Given the description of an element on the screen output the (x, y) to click on. 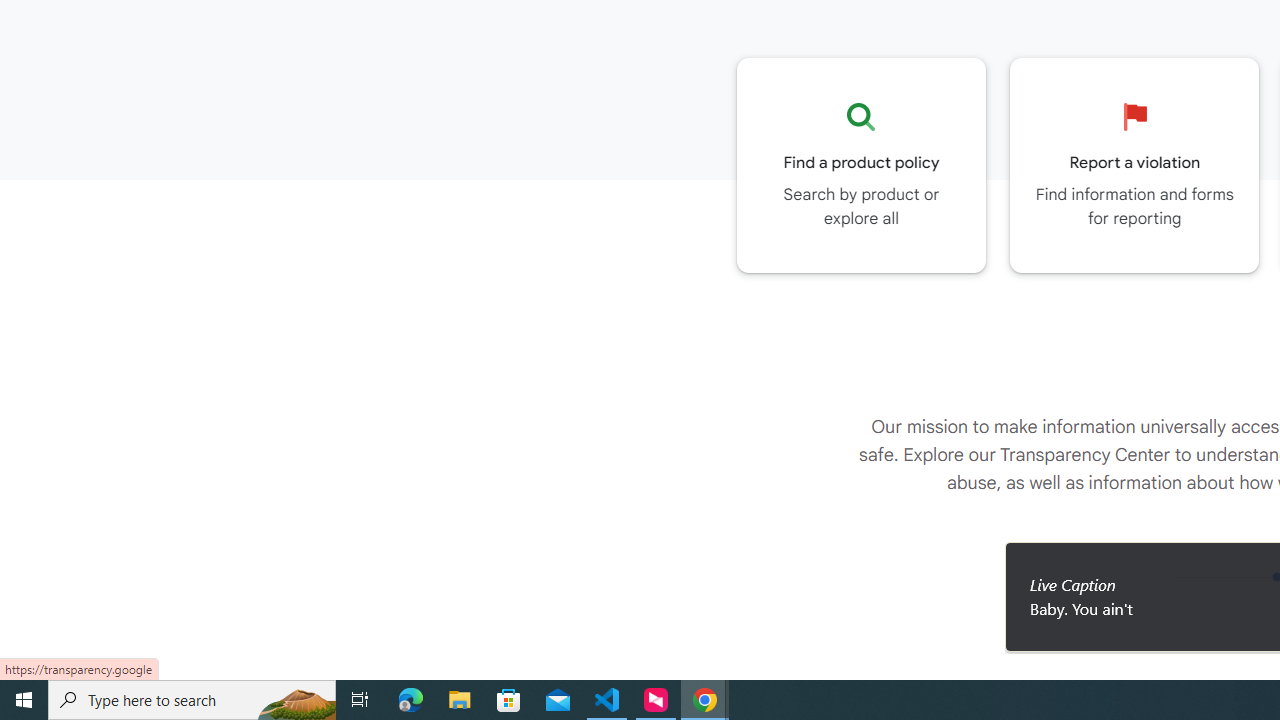
Go to the Product policy page (861, 165)
Go to the Reporting and appeals page (1134, 165)
